Given the description of an element on the screen output the (x, y) to click on. 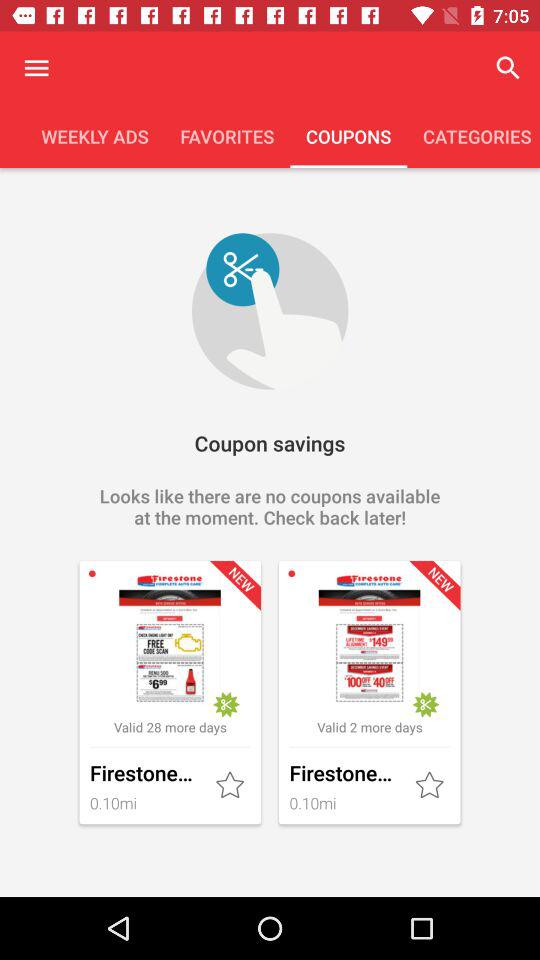
go to favrote (431, 786)
